Given the description of an element on the screen output the (x, y) to click on. 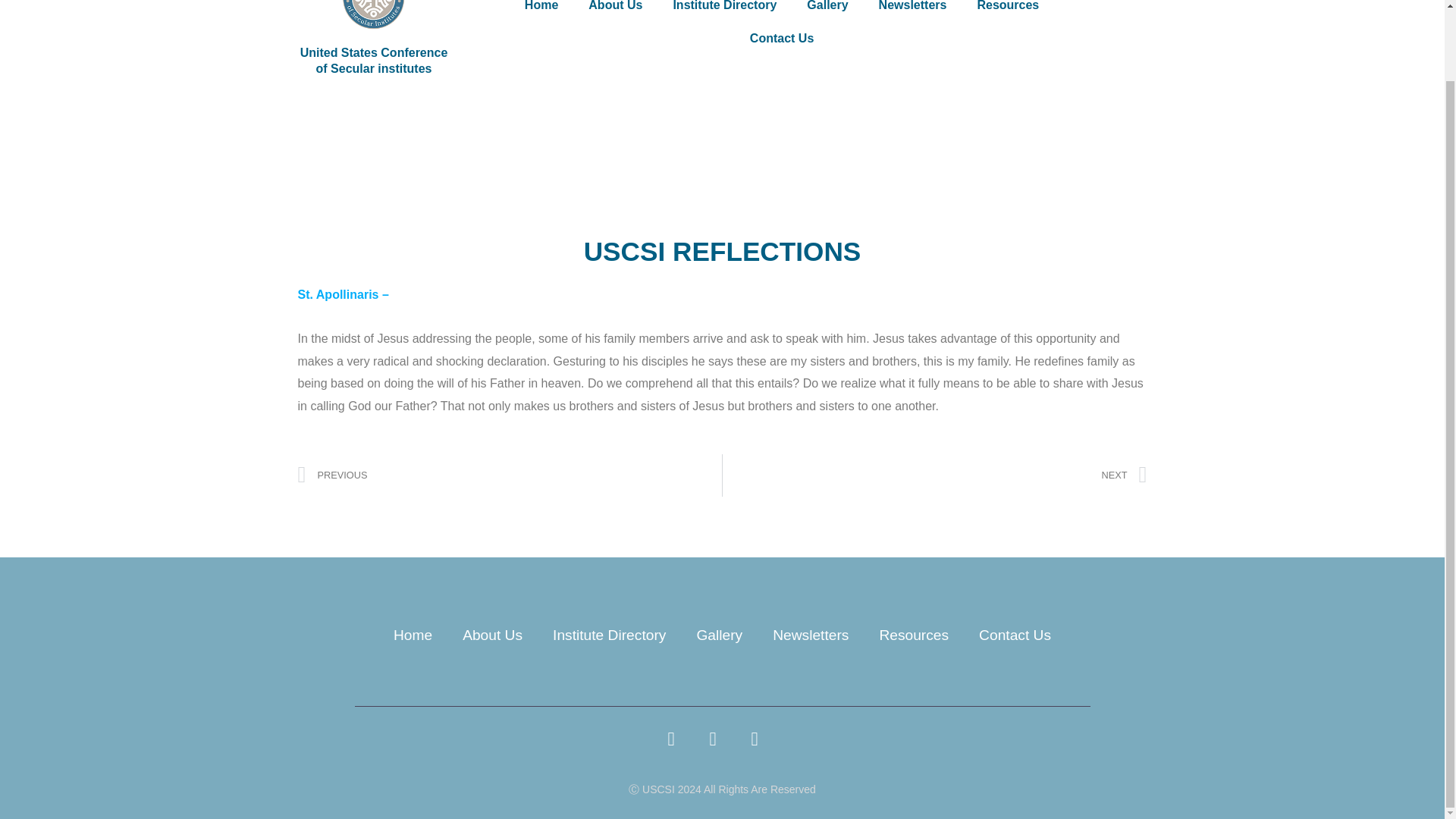
Gallery (827, 11)
Home (541, 11)
Contact Us (1014, 635)
Institute Directory (725, 11)
Institute Directory (509, 475)
Newsletters (609, 635)
Home (810, 635)
About Us (412, 635)
Newsletters (615, 11)
